Given the description of an element on the screen output the (x, y) to click on. 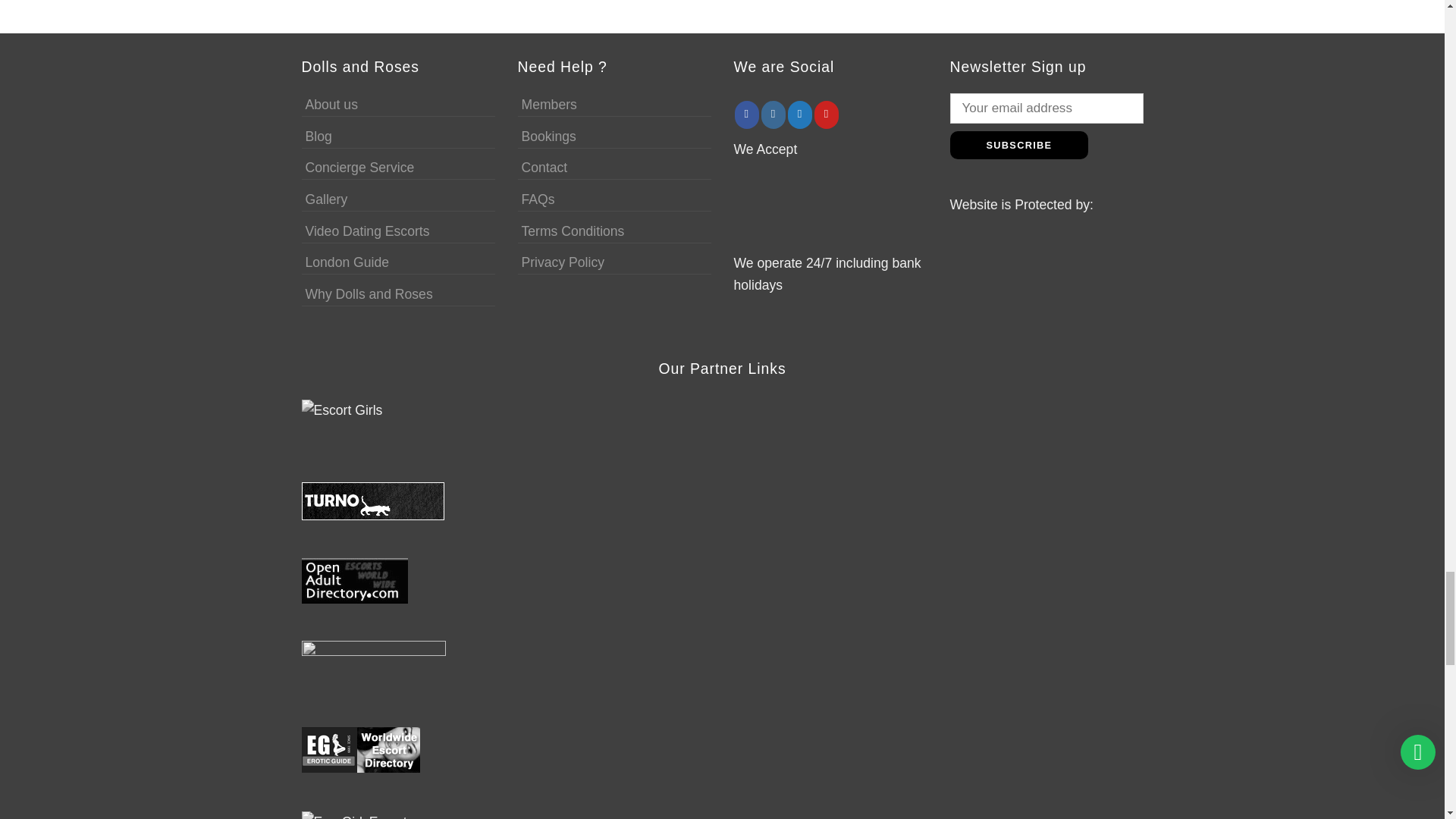
Escort Girls (348, 421)
Follow on Facebook (746, 114)
Subscribe (1018, 144)
Follow on Pinterest (825, 114)
Follow on Twitter (799, 114)
Follow on Instagram (773, 114)
